Given the description of an element on the screen output the (x, y) to click on. 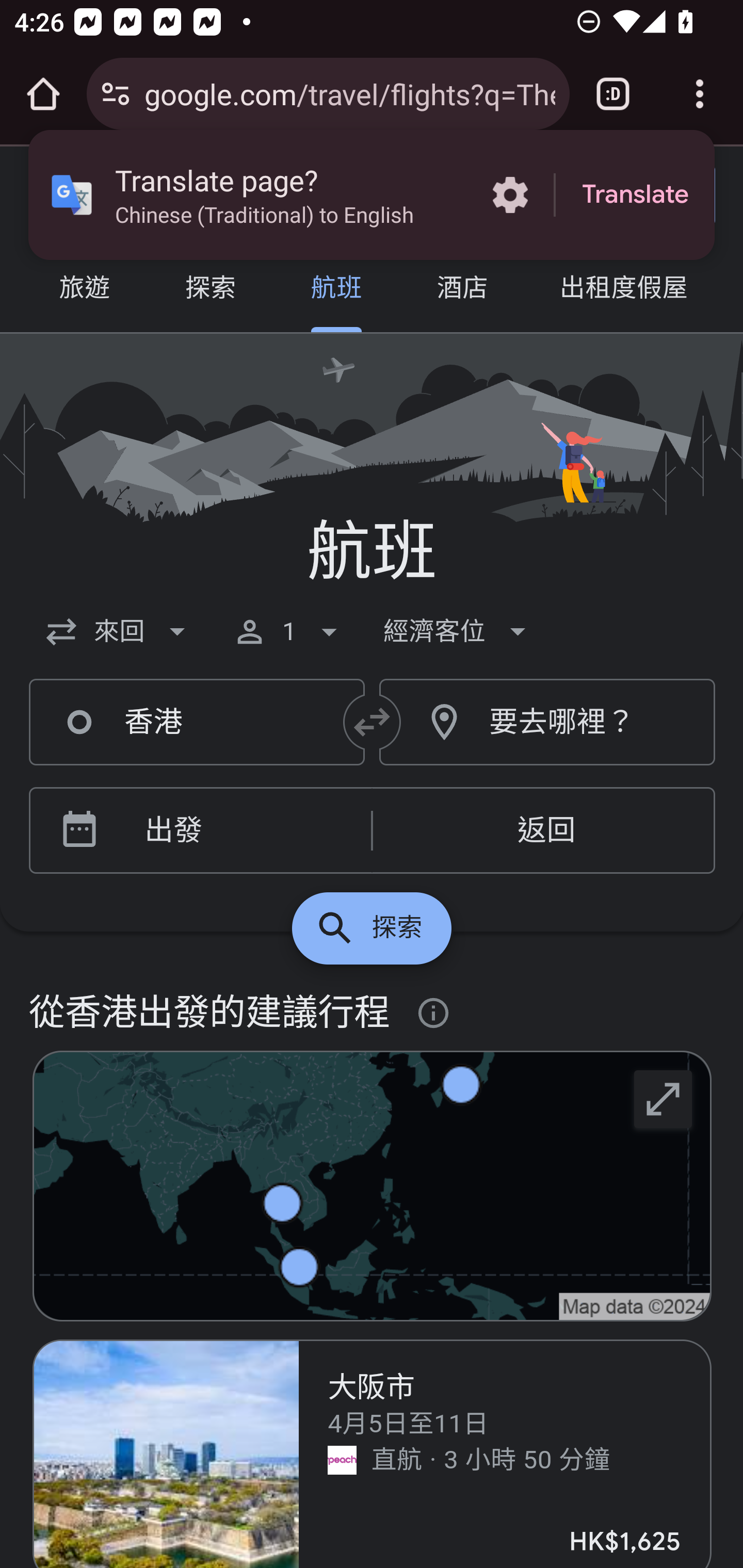
Open the home page (43, 93)
Connection is secure (115, 93)
Switch or close tabs (612, 93)
Customize and control Google Chrome (699, 93)
主選單 (58, 195)
Google Apps (513, 195)
登入 (643, 195)
旅遊  (84, 289)
探索  (209, 289)
航班  (336, 289)
酒店  (462, 289)
出租度假屋  (623, 289)
1 位乘客，變更乘客人數。 (289, 631)
香港 (197, 722)
將出發地同埋目的地對調 (372, 722)
出發 (229, 830)
返回 (543, 830)
探索更多目的地 (371, 928)
有關由香港出發嘅建議行程。 (434, 1013)
探索更多目的地 (663, 1098)
大阪市 4月5日至11日 樂桃航空 直航 3 小時 50 分鐘 1625 港元 (372, 1453)
